Given the description of an element on the screen output the (x, y) to click on. 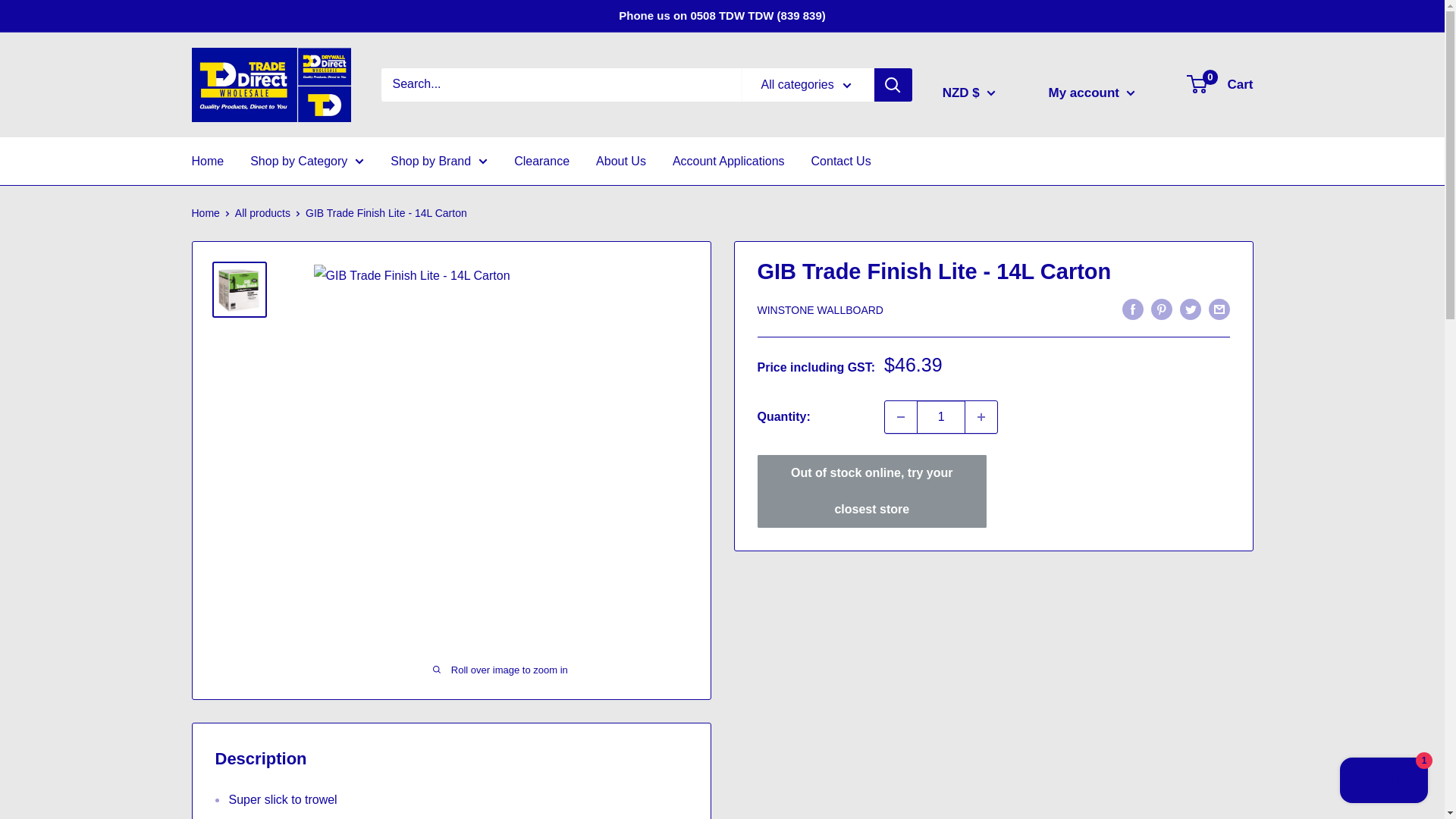
1 (941, 417)
Shopify online store chat (1383, 781)
Increase quantity by 1 (981, 417)
Decrease quantity by 1 (901, 417)
